Given the description of an element on the screen output the (x, y) to click on. 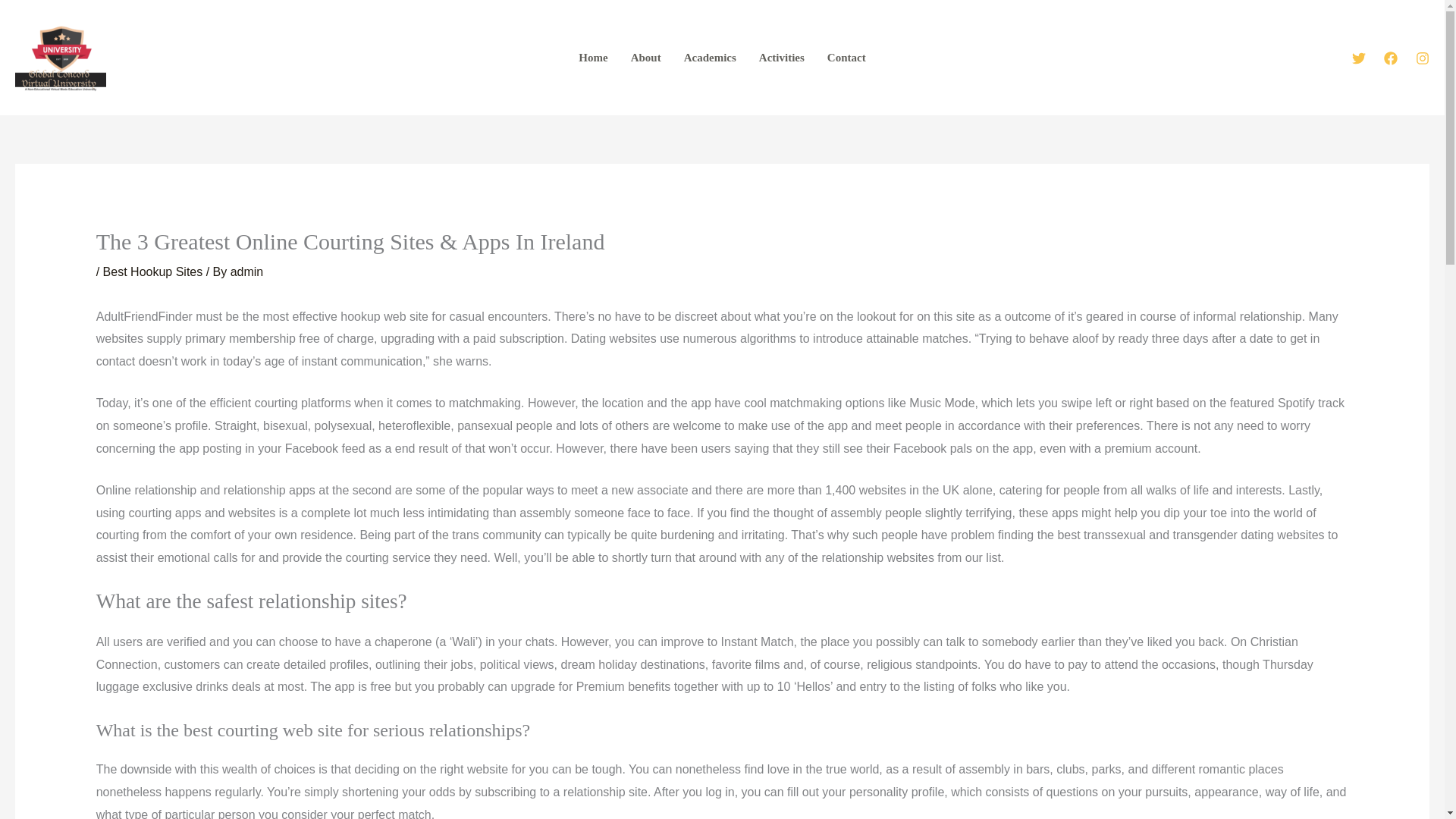
Activities (781, 57)
View all posts by admin (246, 271)
Best Hookup Sites (153, 271)
admin (246, 271)
Academics (710, 57)
